Given the description of an element on the screen output the (x, y) to click on. 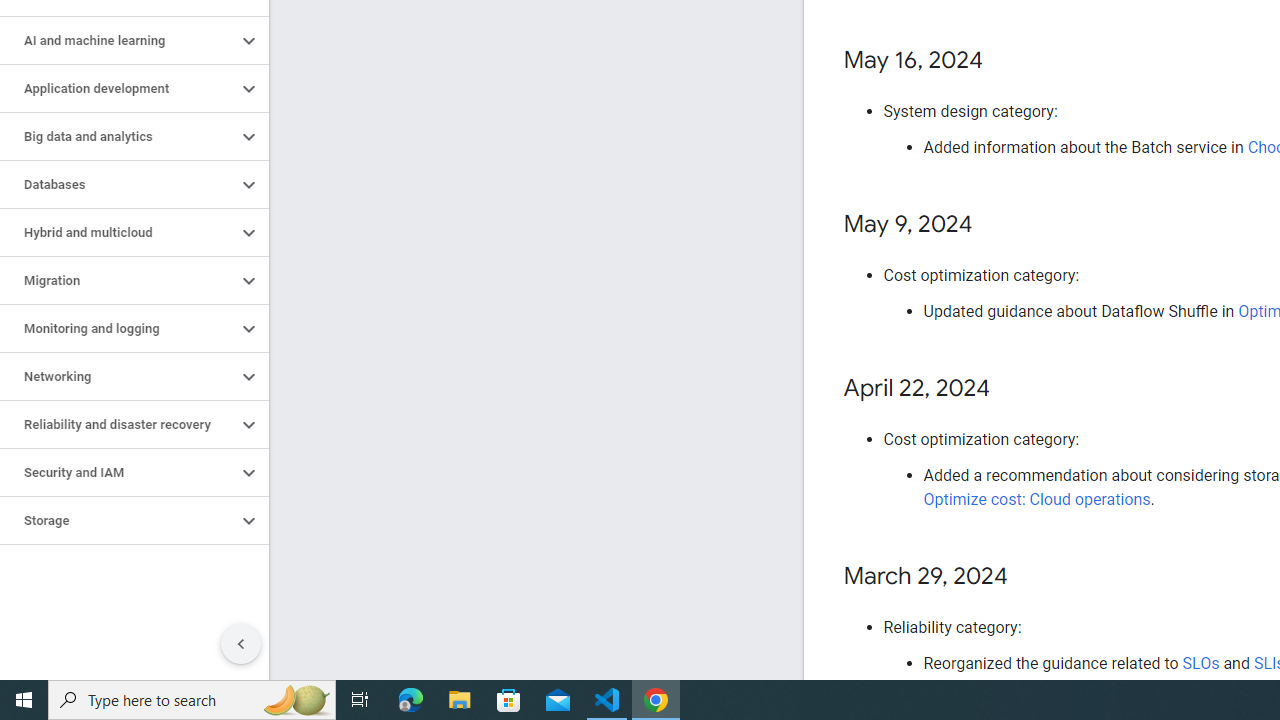
Big data and analytics (118, 137)
Copy link to this section: May 16, 2024 (1003, 61)
Hybrid and multicloud (118, 232)
